Given the description of an element on the screen output the (x, y) to click on. 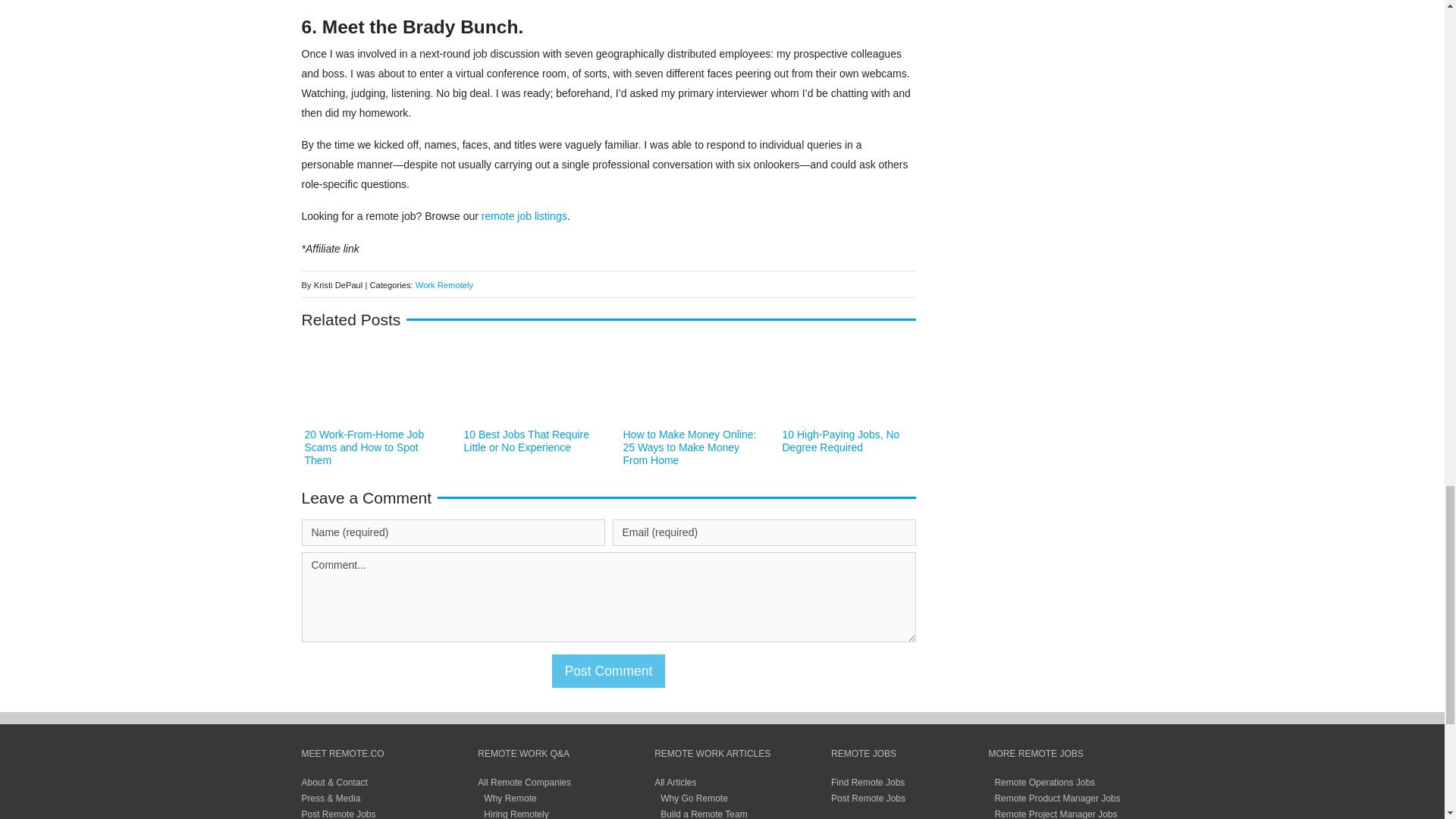
20 Work-From-Home Job Scams and How to Spot Them (364, 447)
Post Comment (608, 670)
remote job listings (524, 215)
10 High-Paying Jobs, No Degree Required (841, 440)
10 Best Jobs That Require Little or No Experience (526, 440)
How to Make Money Online: 25 Ways to Make Money From Home (690, 447)
Post Comment (608, 670)
Work Remotely (443, 284)
